Given the description of an element on the screen output the (x, y) to click on. 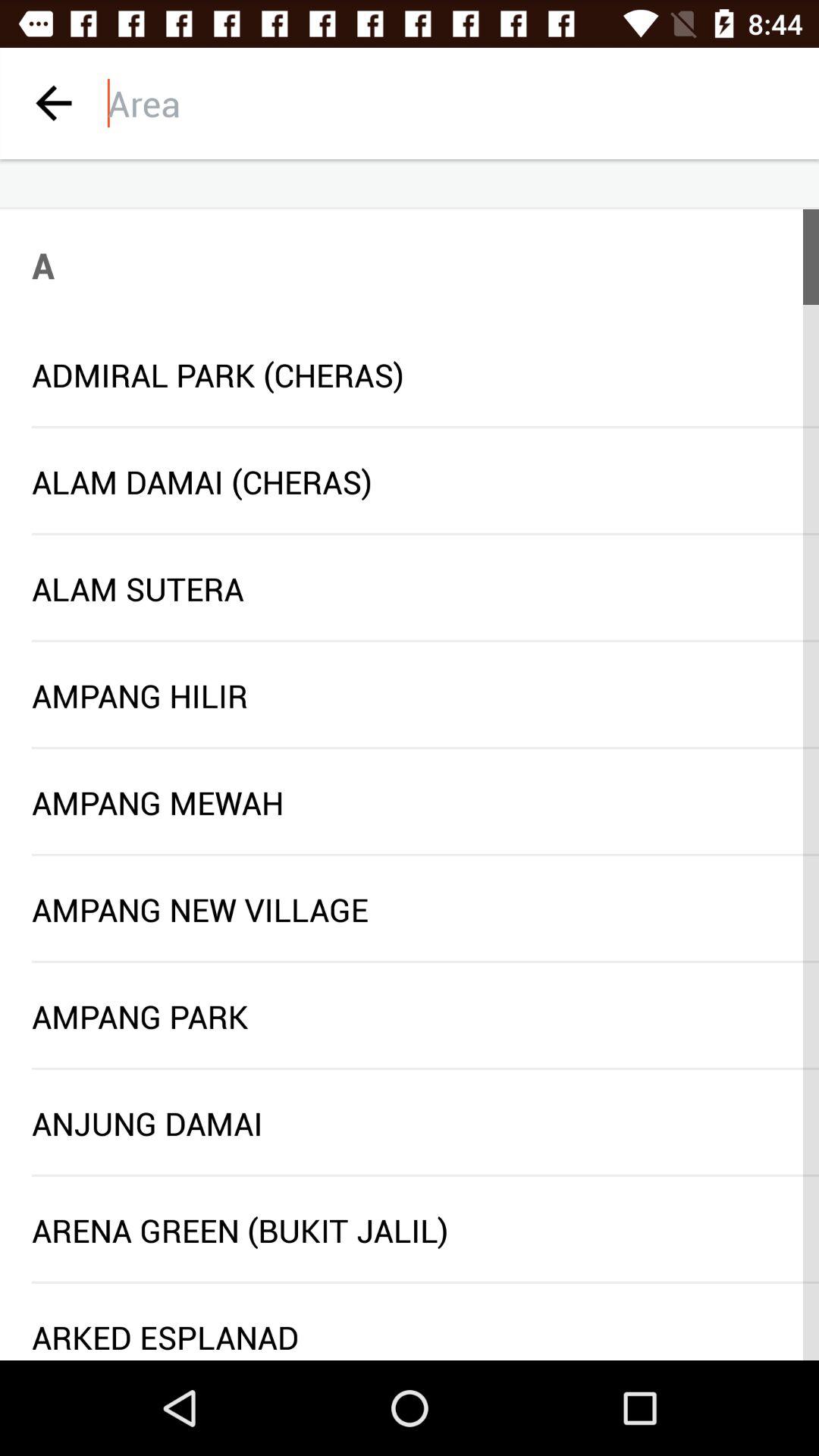
swipe until the ampang hilir icon (409, 695)
